Given the description of an element on the screen output the (x, y) to click on. 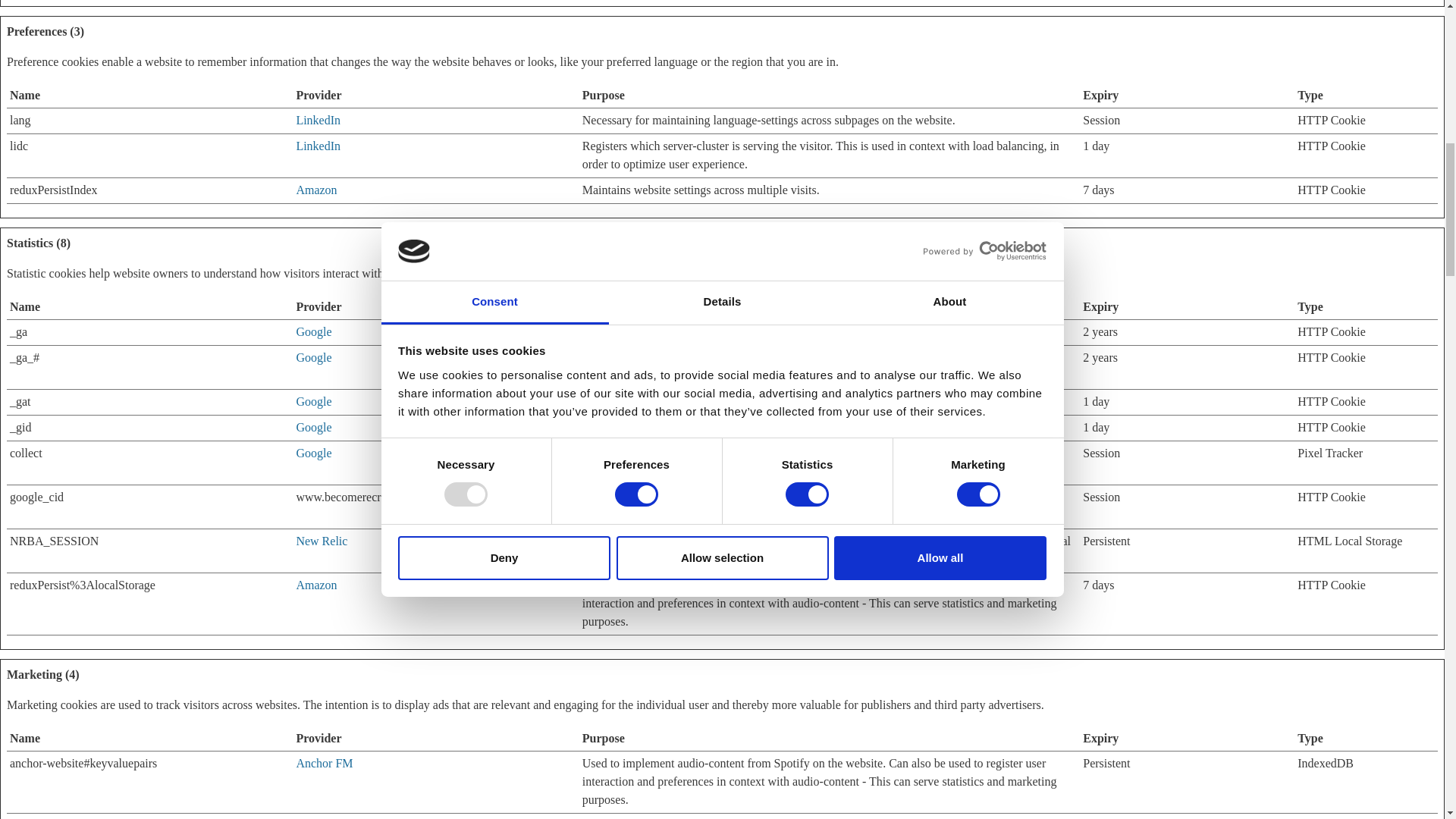
New Relic (321, 540)
LinkedIn's privacy policy (317, 119)
Anchor FM (323, 762)
Google's privacy policy (313, 331)
Google's privacy policy (313, 357)
Google (313, 452)
New Relic's privacy policy (321, 540)
Google (313, 331)
Amazon (315, 189)
Google's privacy policy (313, 400)
